Given the description of an element on the screen output the (x, y) to click on. 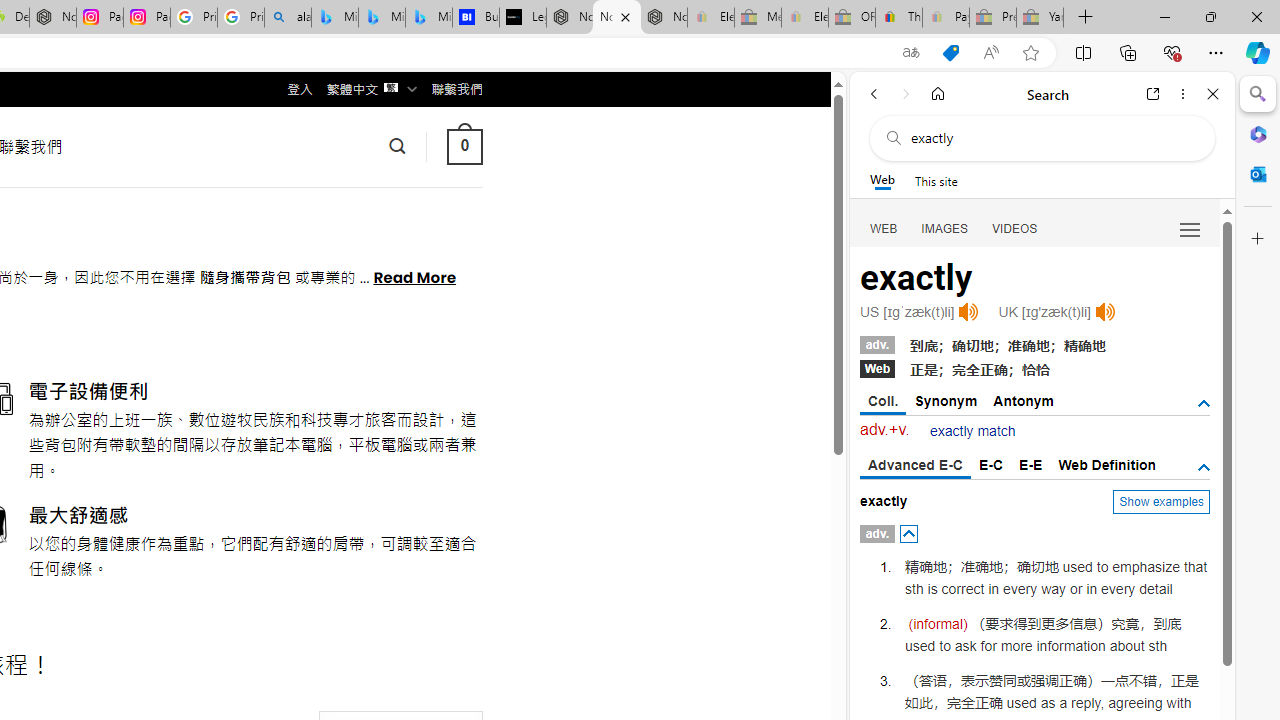
Antonym (1023, 400)
E-C (991, 464)
Advanced E-C (915, 466)
Yard, Garden & Outdoor Living - Sleeping (1040, 17)
Search Filter, IMAGES (944, 228)
